Given the description of an element on the screen output the (x, y) to click on. 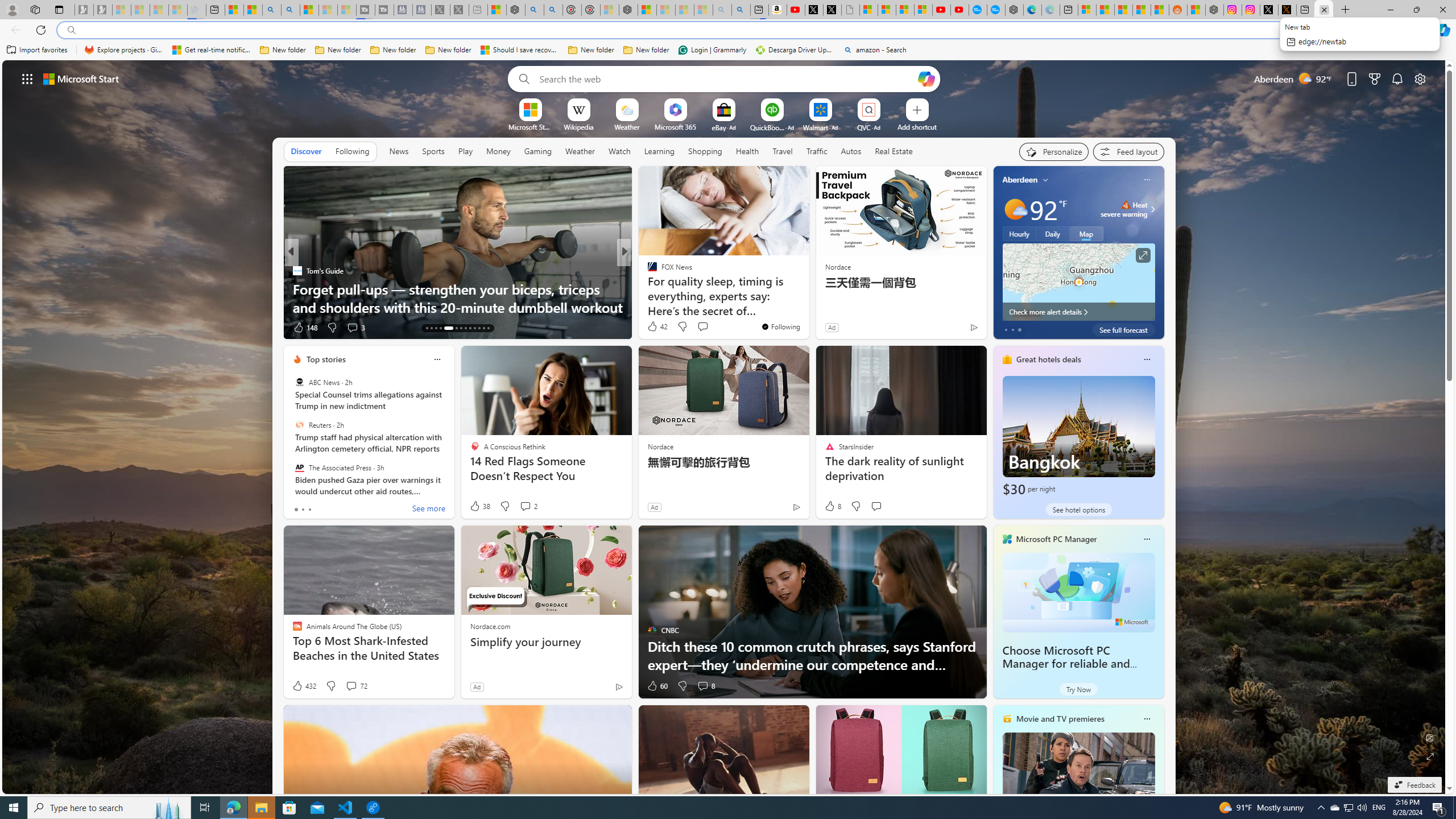
13 Common Behaviors That Make People Dislike You (807, 307)
Health (746, 151)
Don't Say That: Phrases to Avoid in Job Interviews (807, 307)
Class: icon-img (1146, 718)
View comments 8 Comment (705, 685)
Bangkok (1077, 436)
